Given the description of an element on the screen output the (x, y) to click on. 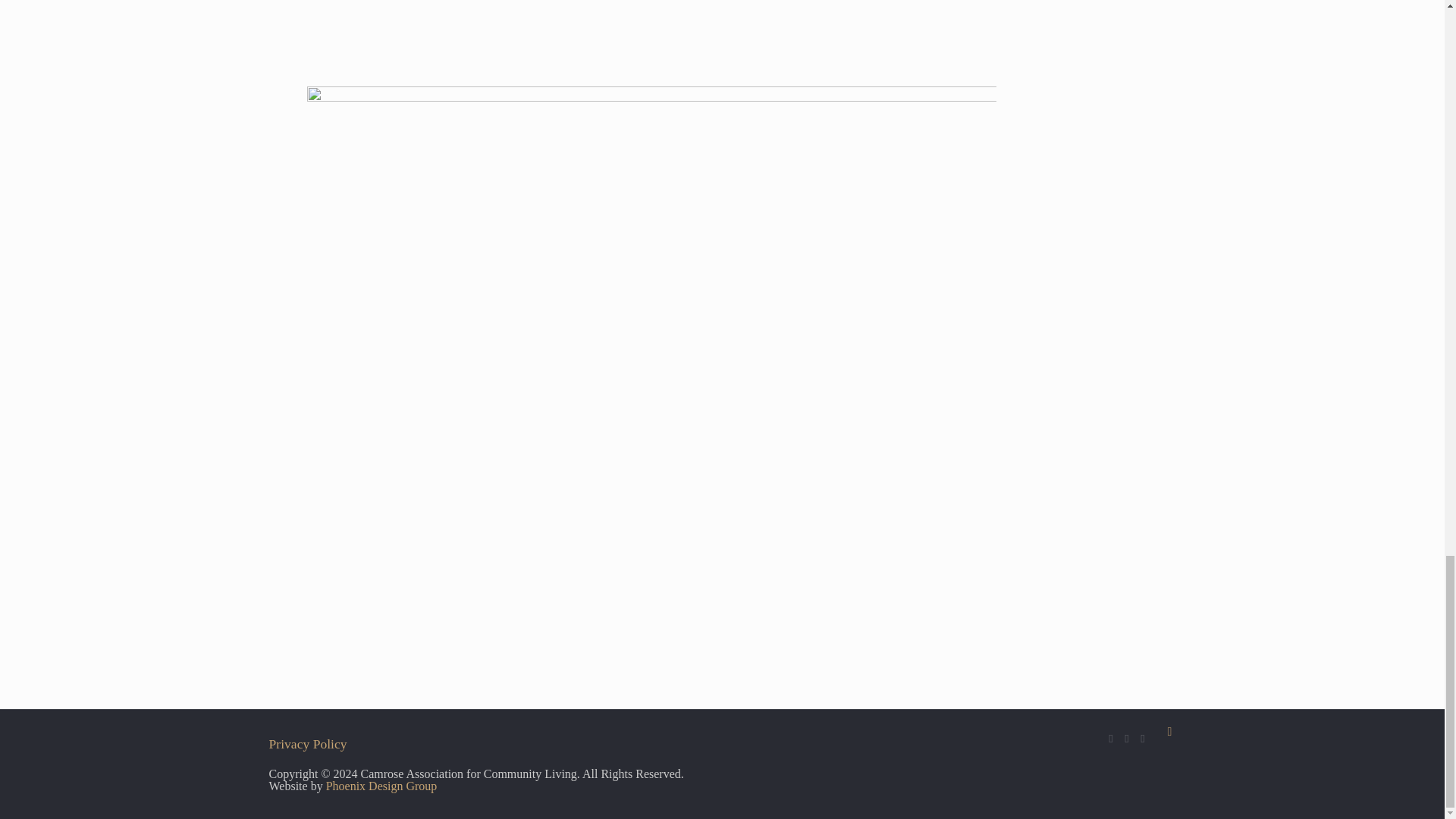
Privacy Policy (306, 743)
Instagram (1126, 738)
Phoenix Design Group (382, 785)
Donate Now (1142, 738)
Facebook (1110, 738)
